Given the description of an element on the screen output the (x, y) to click on. 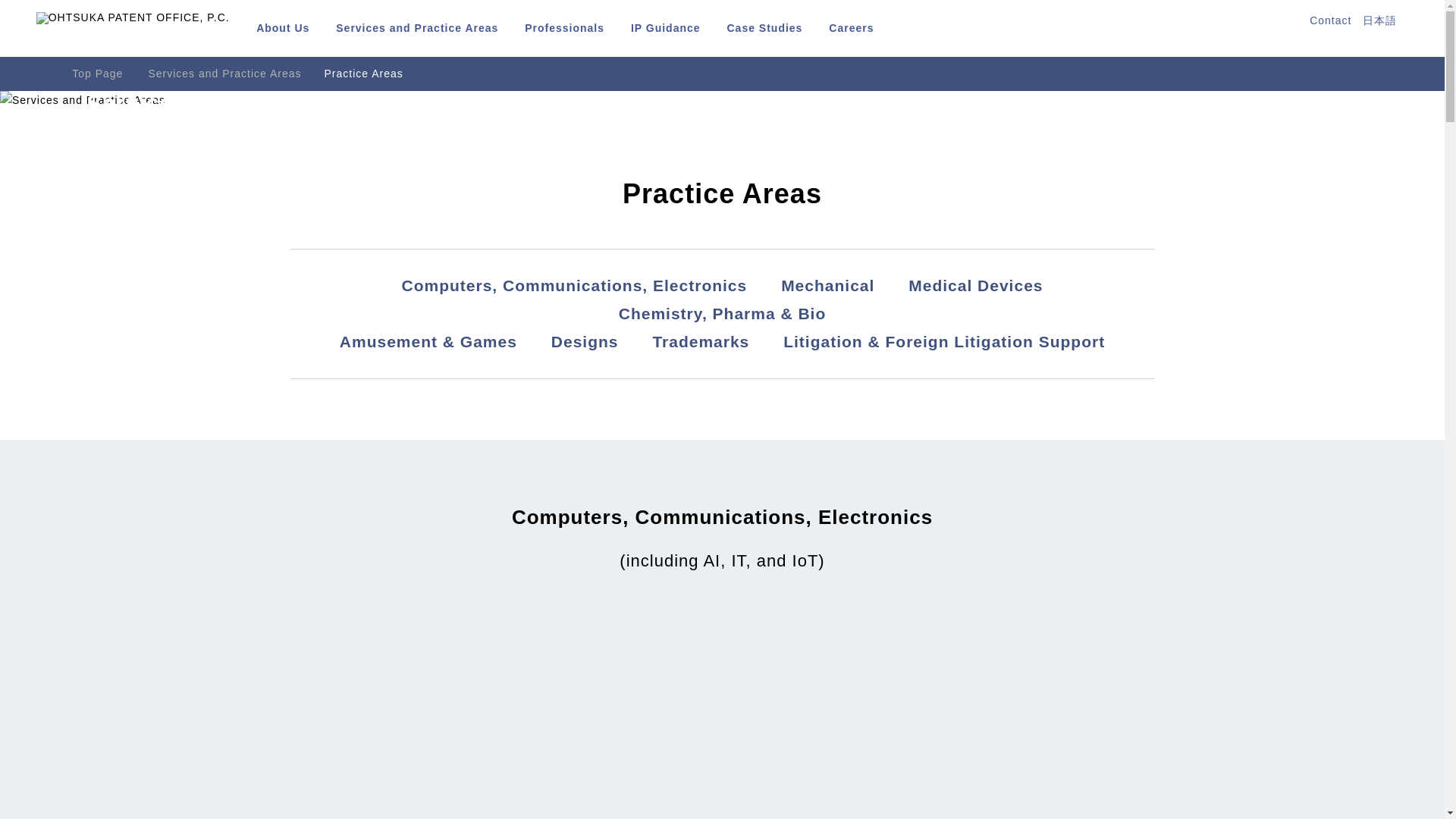
About Us (282, 29)
Services and Practice Areas (416, 29)
Professionals (564, 29)
